Given the description of an element on the screen output the (x, y) to click on. 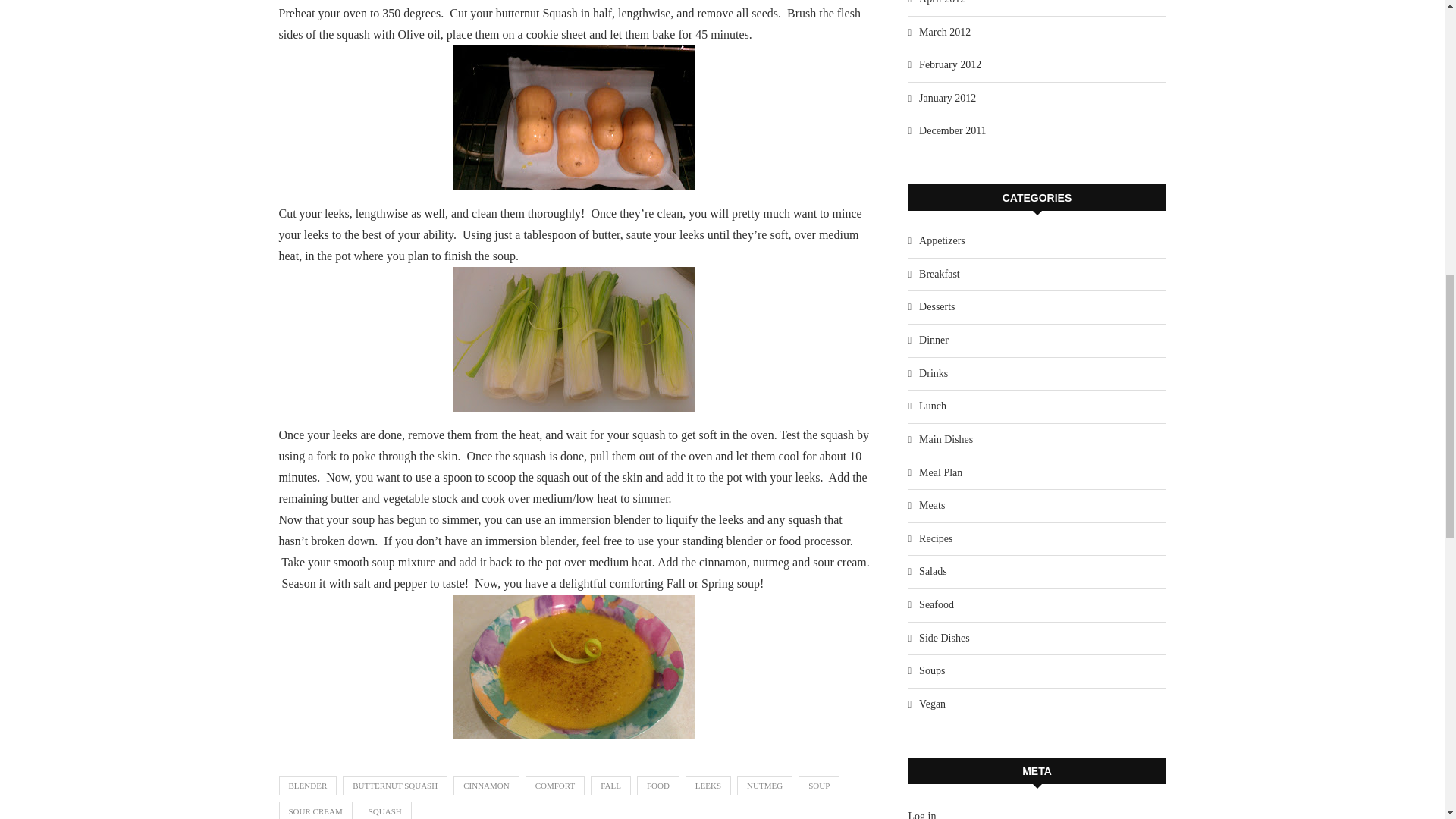
SOUR CREAM (315, 810)
SQUASH (385, 810)
SOUP (818, 785)
LEEKS (707, 785)
NUTMEG (764, 785)
CINNAMON (485, 785)
BLENDER (308, 785)
FOOD (658, 785)
COMFORT (555, 785)
FALL (610, 785)
